Given the description of an element on the screen output the (x, y) to click on. 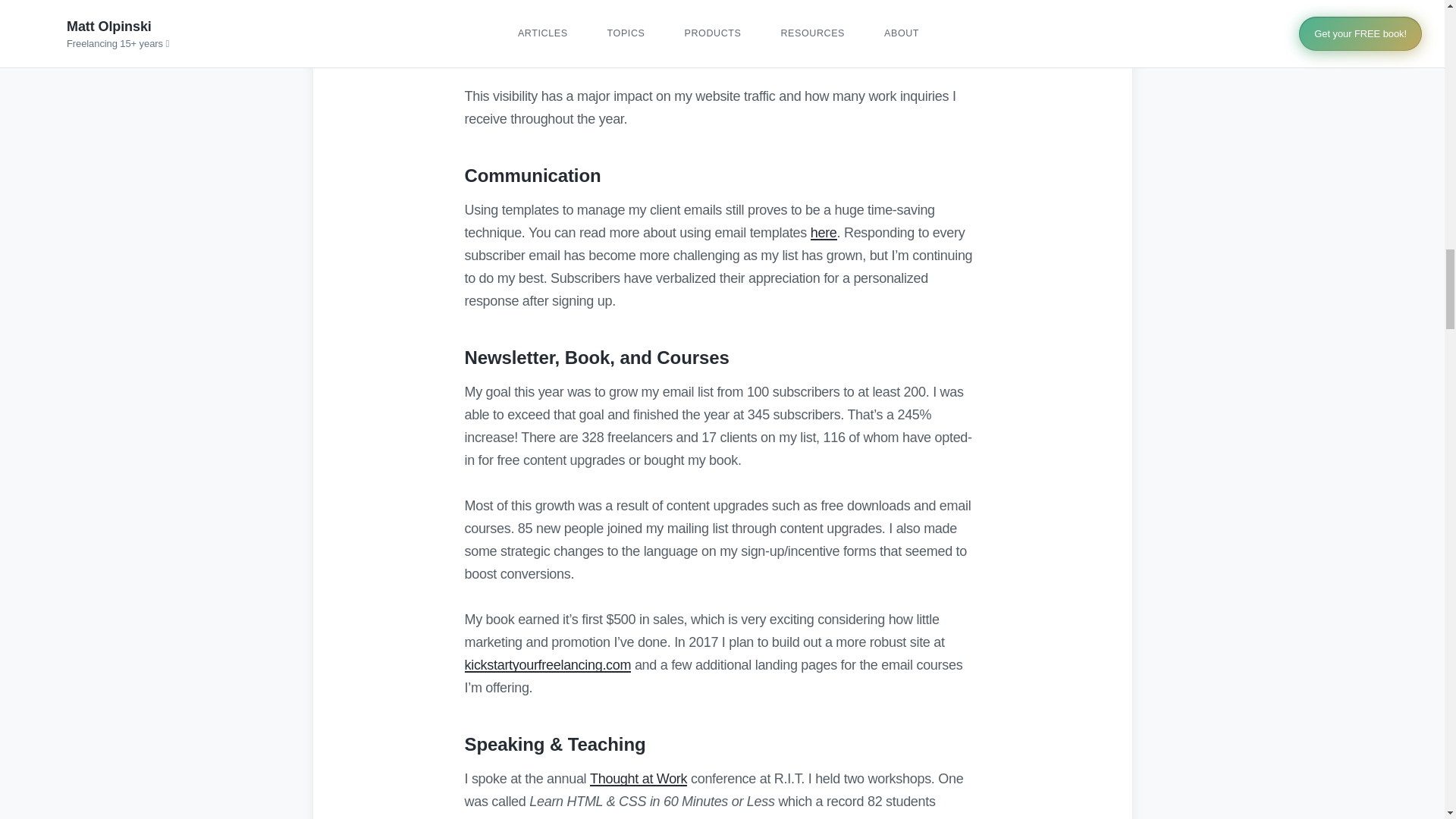
kickstartyourfreelancing.com (547, 663)
Thought at Work (638, 777)
here (823, 231)
